Given the description of an element on the screen output the (x, y) to click on. 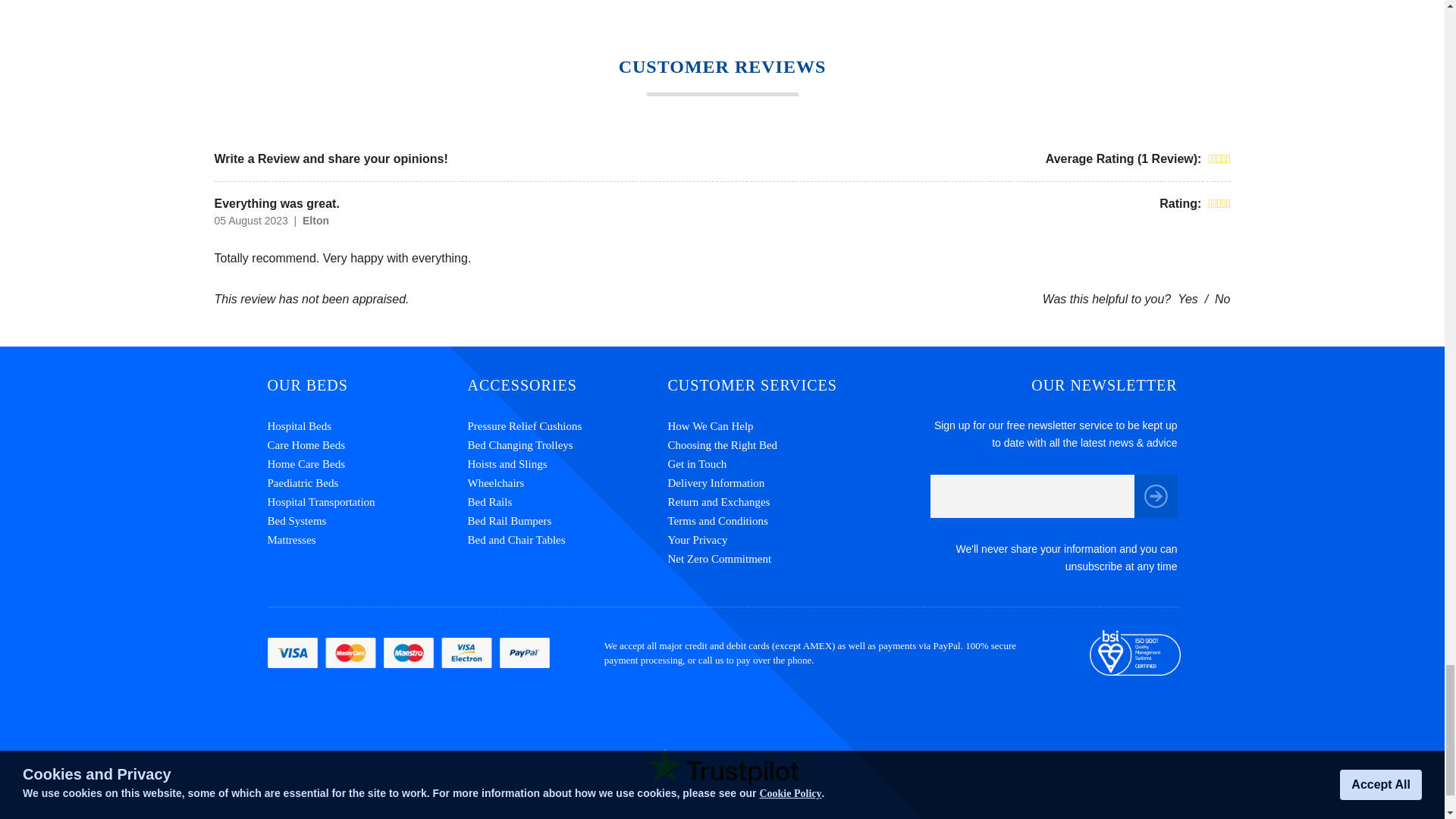
Hospital Transportation (366, 502)
Paediatric Beds (366, 483)
No (1222, 298)
Yes (1187, 298)
Home Care Beds (366, 464)
Hospital Beds (366, 425)
Care Home Beds (366, 445)
Write a Review (256, 158)
5 Stars (1219, 159)
Customer reviews powered by Trustpilot (721, 764)
